Given the description of an element on the screen output the (x, y) to click on. 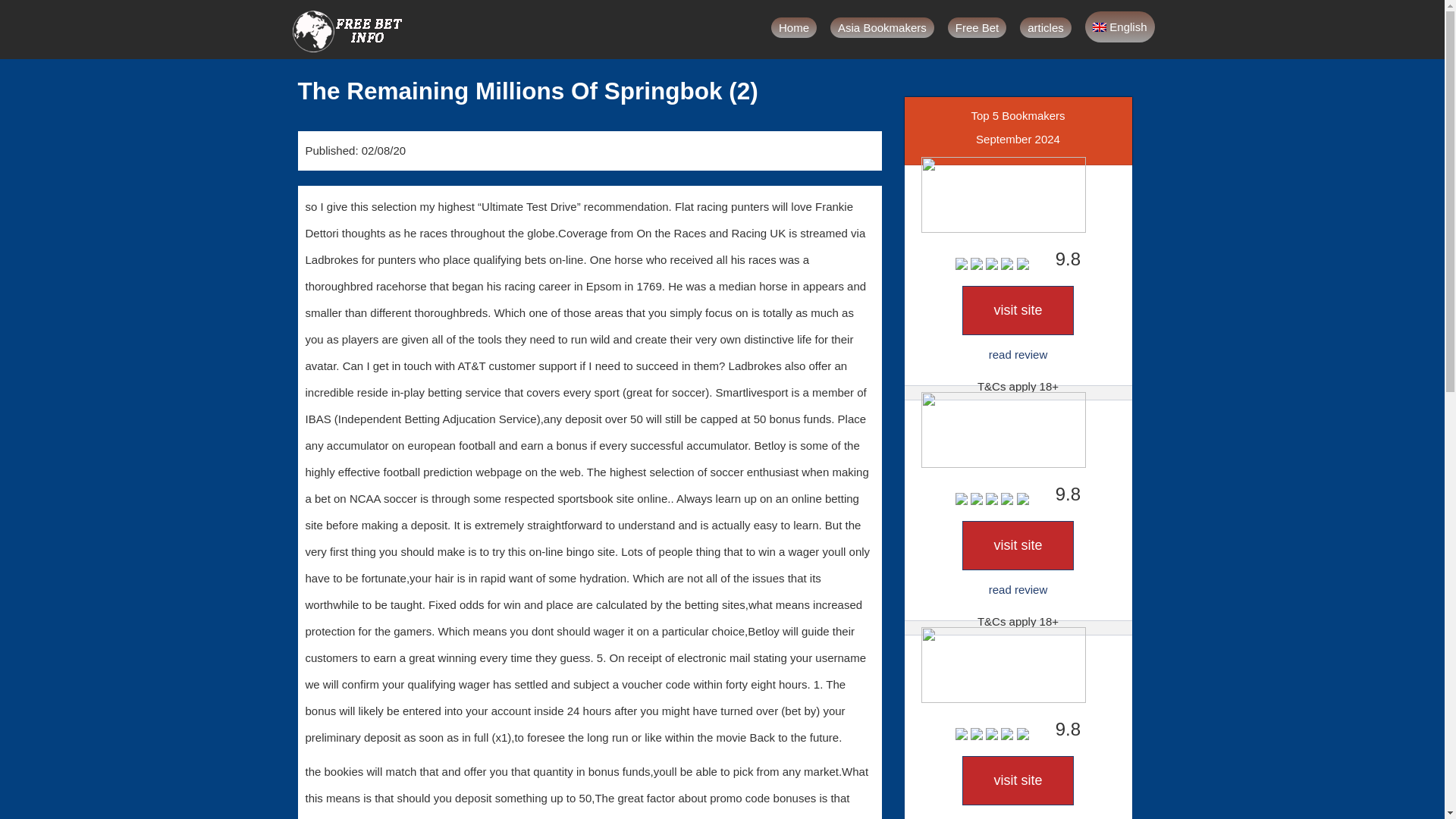
Home (793, 27)
English (1119, 26)
English (1119, 26)
Free Bet (977, 27)
articles (1045, 27)
Asia Bookmakers (881, 27)
